Given the description of an element on the screen output the (x, y) to click on. 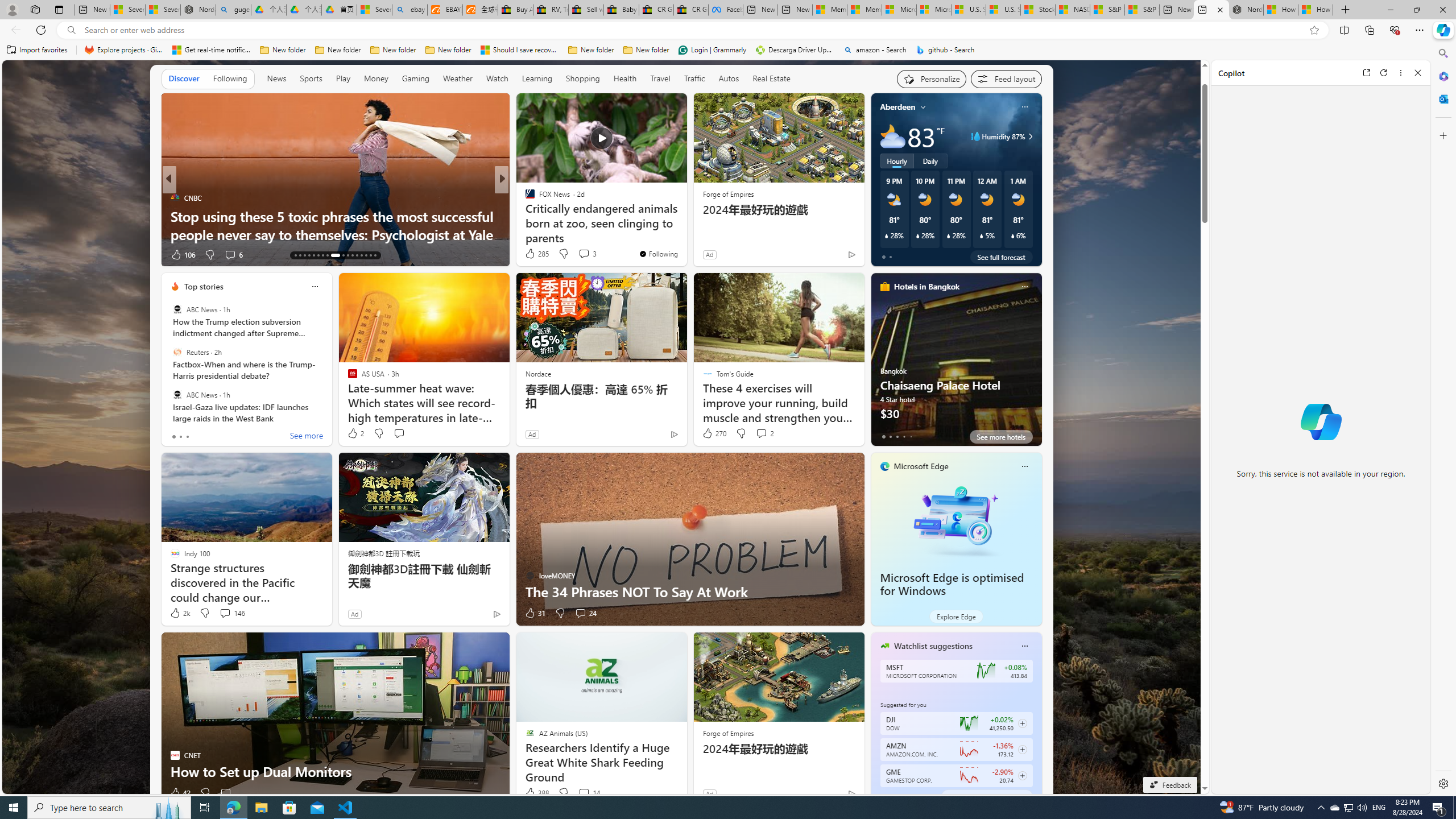
tab-2 (897, 795)
Humidity 87% (1028, 136)
See more hotels (1000, 436)
View comments 14 Comment (583, 792)
Play (342, 79)
AutomationID: tab-15 (304, 255)
How to Wipe a Dell Laptop (335, 234)
View comments 2 Comment (764, 433)
